Given the description of an element on the screen output the (x, y) to click on. 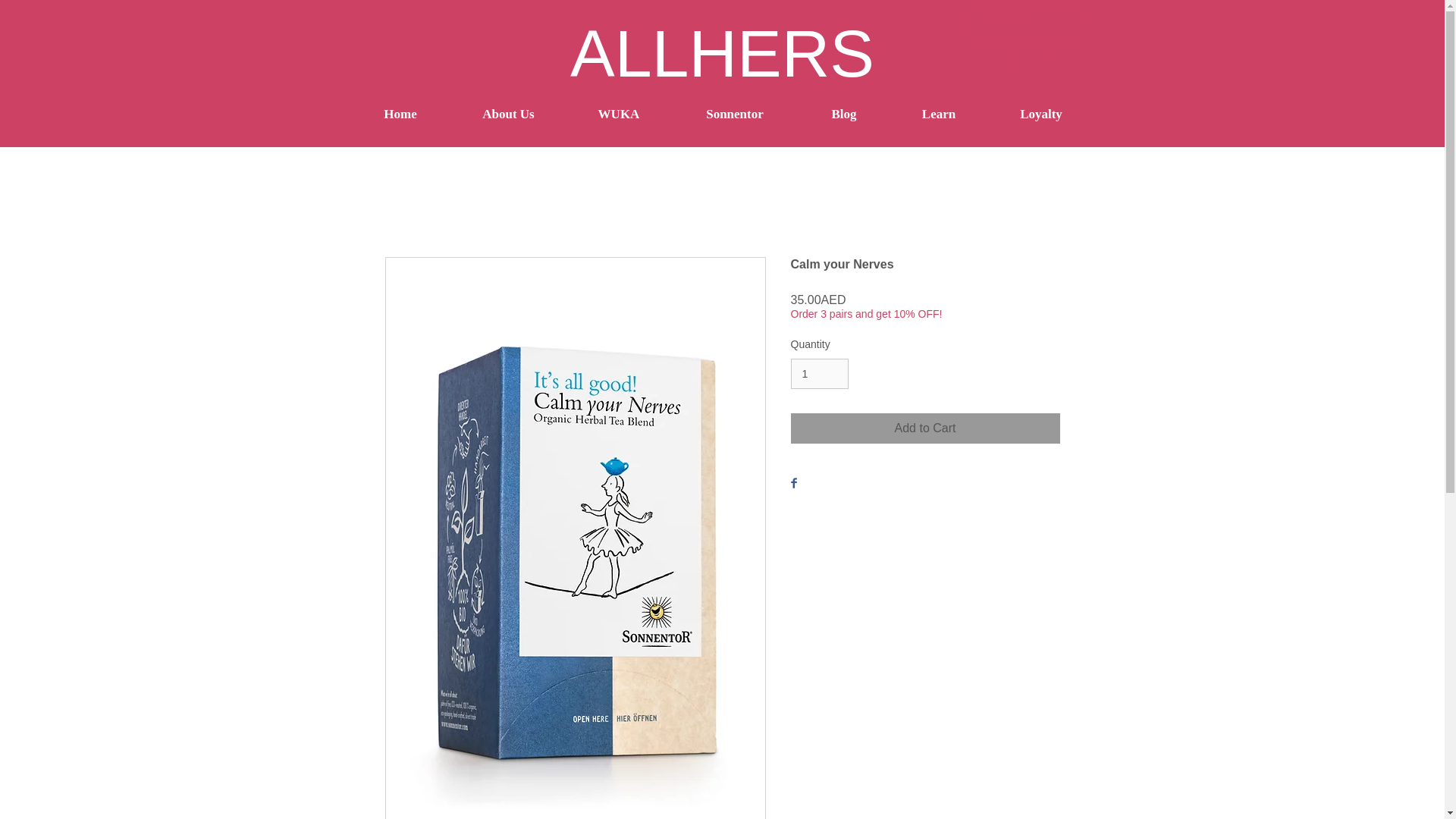
Loyalty (1041, 114)
Log In (1040, 57)
Add to Cart (924, 428)
Learn (938, 114)
1 (818, 373)
Sonnentor (733, 114)
Home (399, 114)
About Us (508, 114)
WUKA (619, 114)
Blog (844, 114)
